Given the description of an element on the screen output the (x, y) to click on. 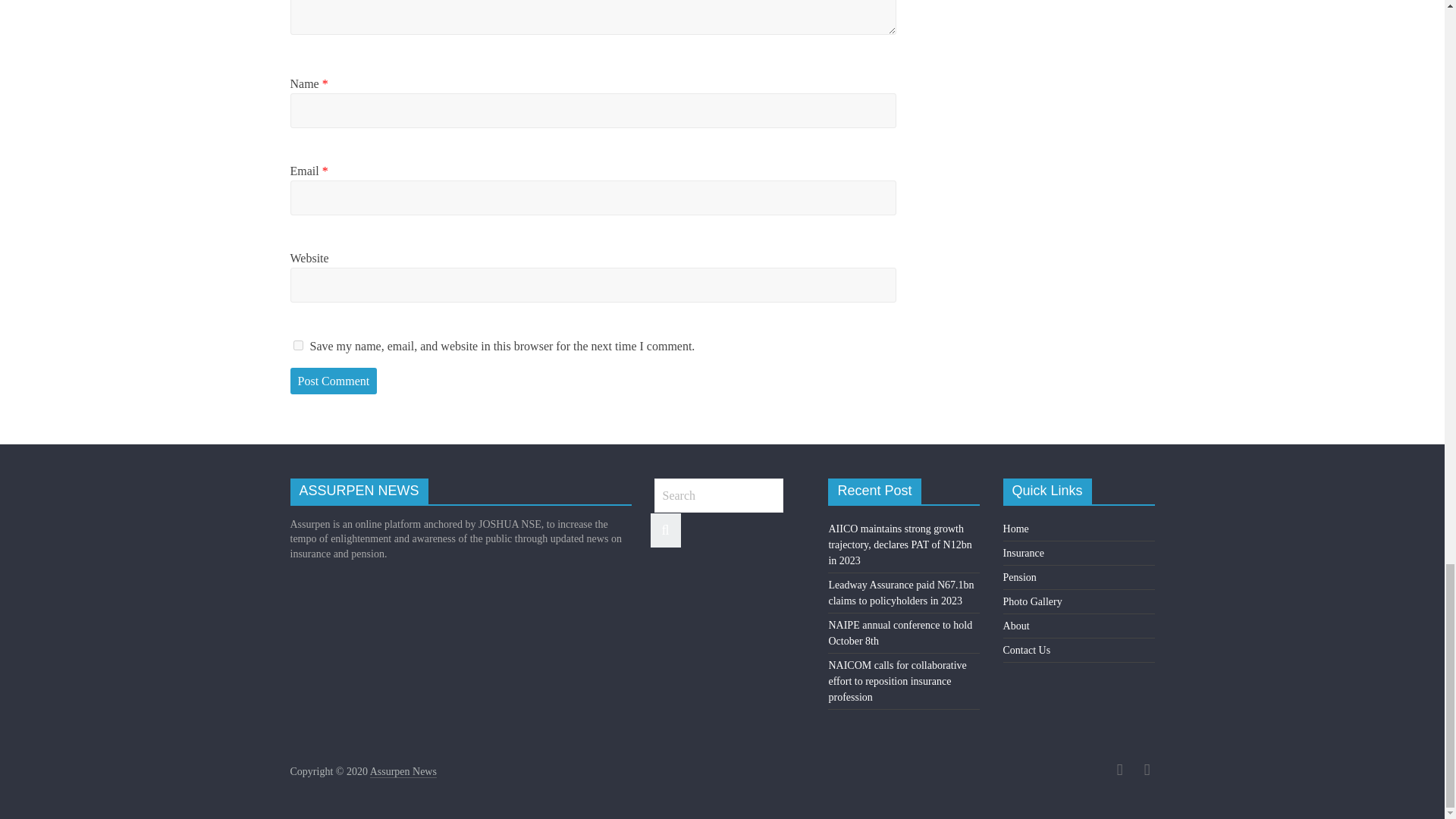
yes (297, 345)
Post Comment (333, 380)
